Given the description of an element on the screen output the (x, y) to click on. 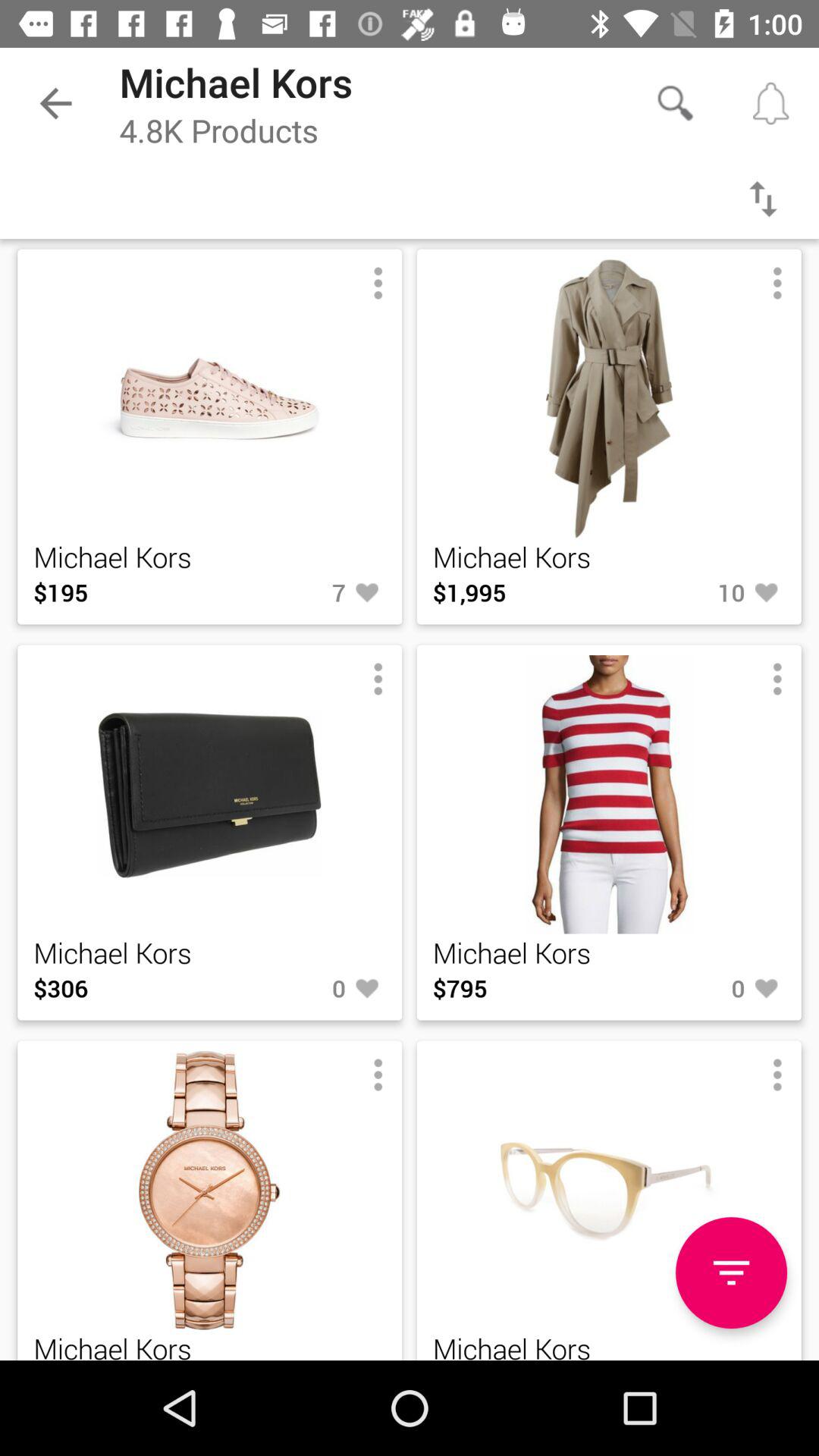
tap the 6 item (297, 1359)
